Given the description of an element on the screen output the (x, y) to click on. 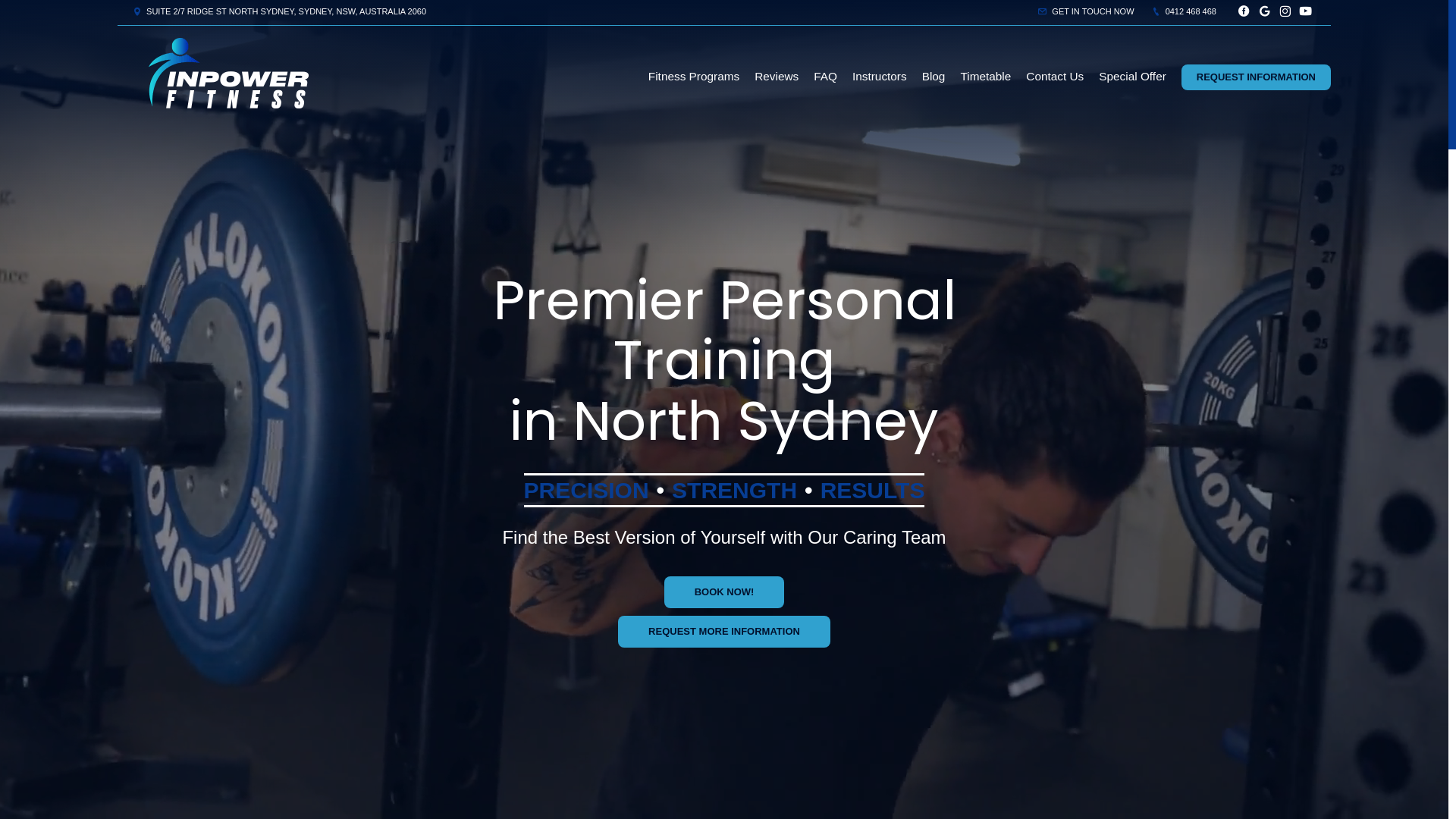
Blog Element type: text (933, 76)
Instructors Element type: text (879, 76)
REQUEST INFORMATION Element type: text (1255, 77)
REQUEST MORE INFORMATION Element type: text (724, 631)
Fitness Programs Element type: text (693, 76)
Reviews Element type: text (776, 76)
0412 468 468 Element type: text (1183, 10)
Contact Us Element type: text (1054, 76)
GET IN TOUCH NOW Element type: text (1085, 10)
FAQ Element type: text (825, 76)
Timetable Element type: text (985, 76)
Special Offer Element type: text (1132, 76)
BOOK NOW! Element type: text (724, 592)
